Given the description of an element on the screen output the (x, y) to click on. 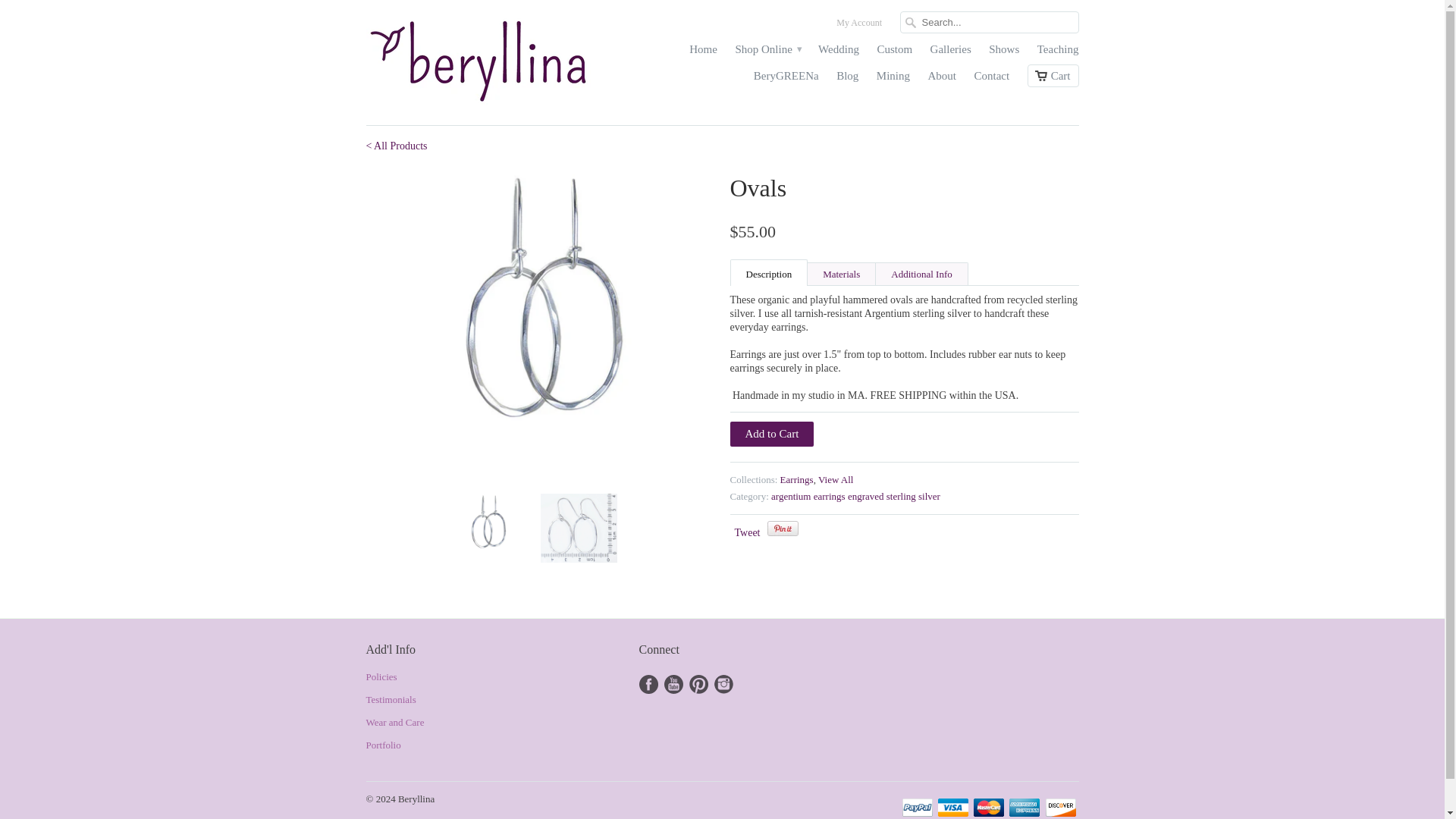
Galleries (950, 52)
Add to Cart (771, 433)
Wedding (838, 52)
Wedding (838, 52)
Blog (847, 79)
My Account  (858, 25)
Shop Online (767, 53)
My Account (858, 25)
Shows (1003, 52)
Home (702, 52)
BeryGREENa (786, 79)
Teaching (1057, 52)
Mining (893, 79)
Custom (894, 52)
About (942, 79)
